Given the description of an element on the screen output the (x, y) to click on. 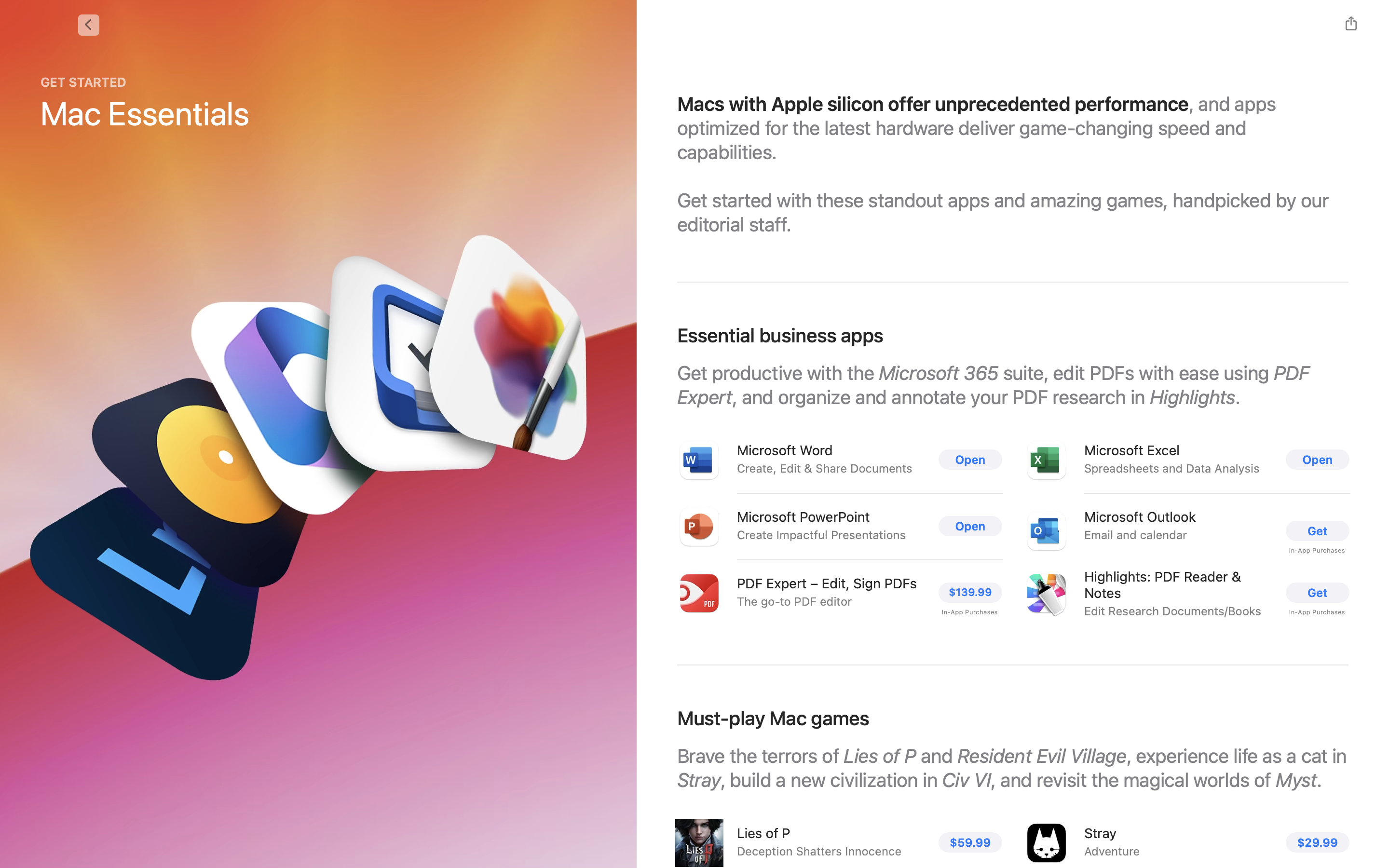
GET STARTED, Mac Essentials, Element type: AXStaticText (144, 103)
Mac Essentials Element type: AXStaticText (144, 112)
